Given the description of an element on the screen output the (x, y) to click on. 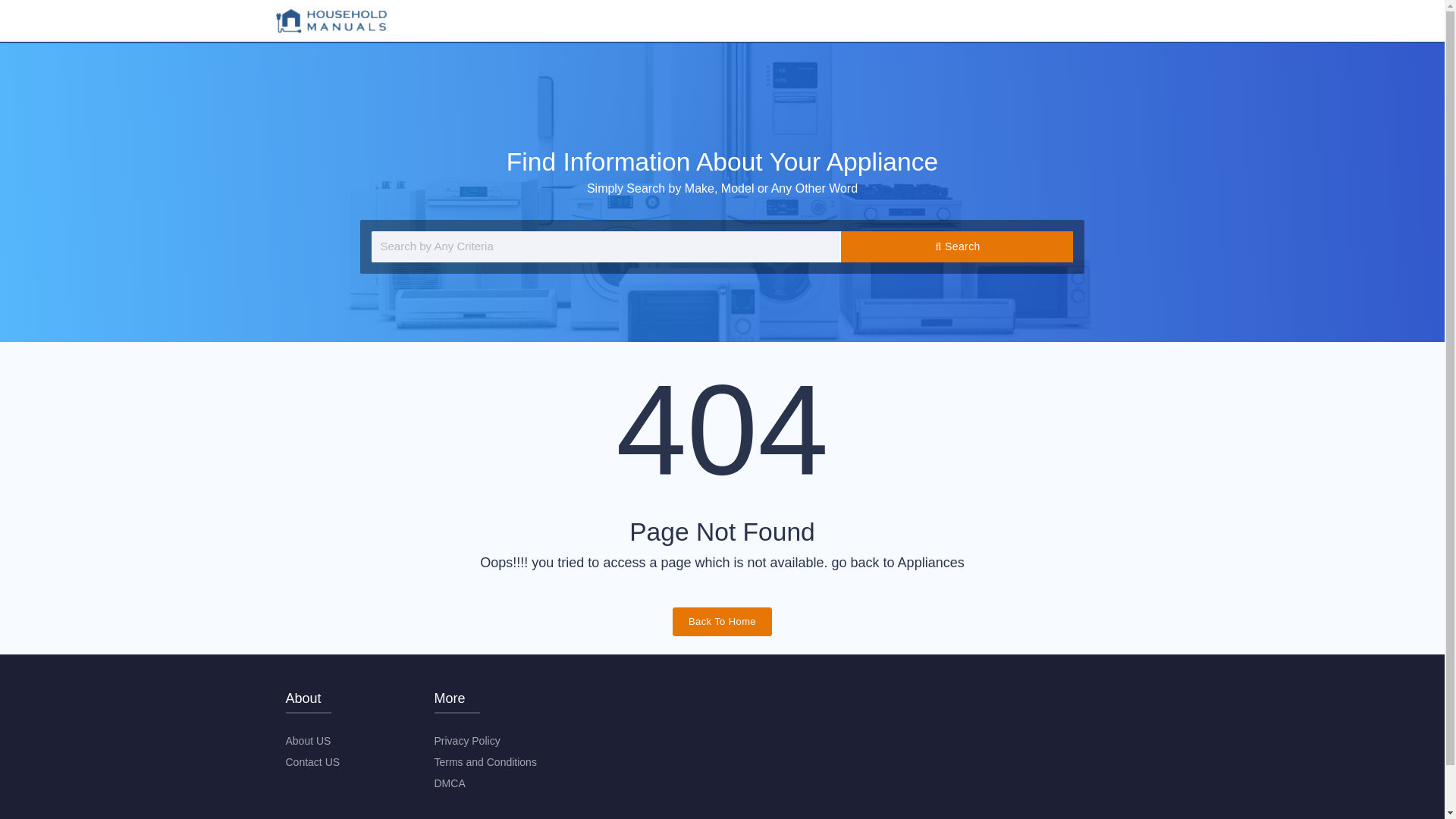
Back To Home (721, 621)
Terms and Conditions (484, 761)
Search (958, 246)
About US (307, 740)
Privacy Policy (466, 740)
Contact US (312, 761)
DMCA (448, 783)
